Given the description of an element on the screen output the (x, y) to click on. 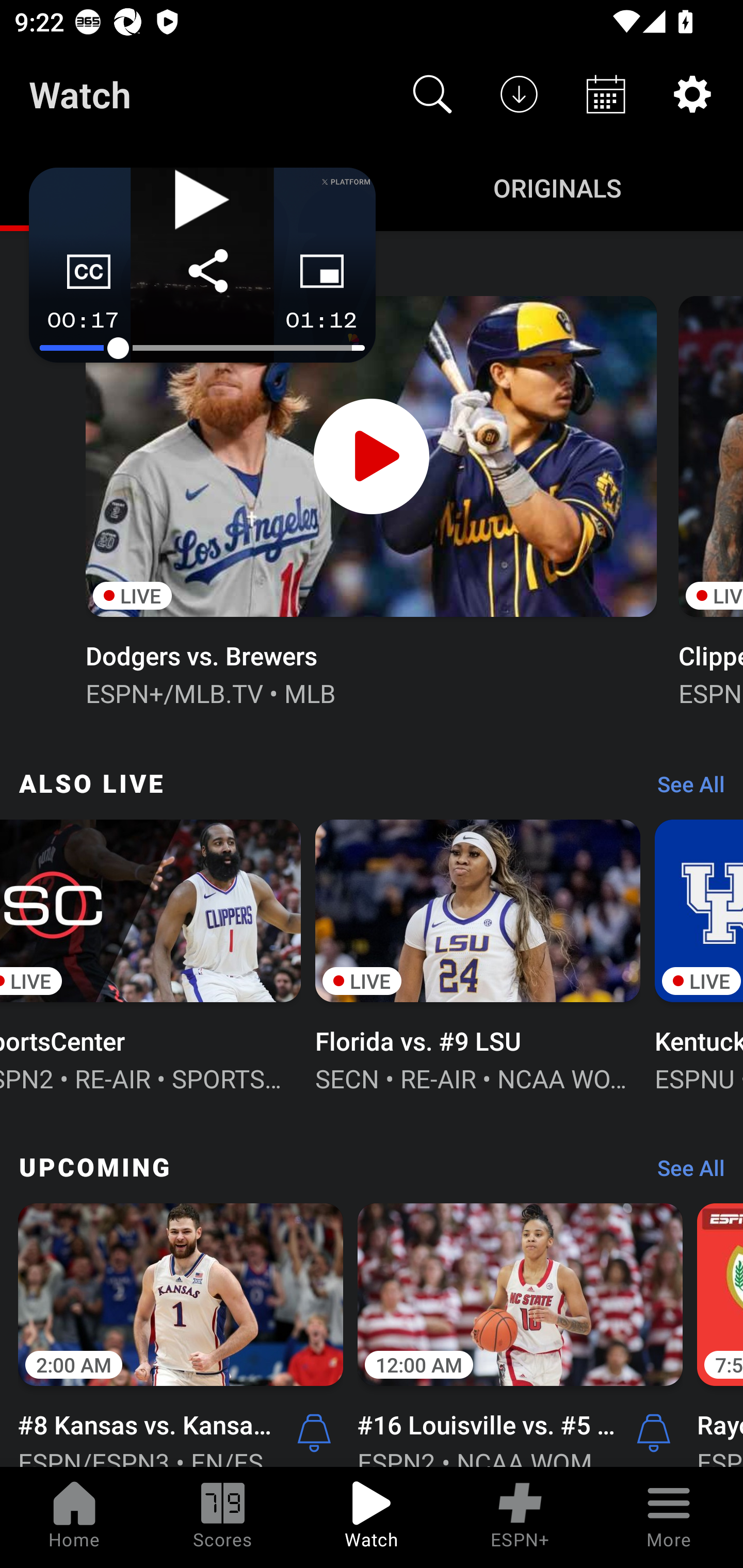
Search (432, 93)
Downloads (518, 93)
Schedule (605, 93)
Settings (692, 93)
Originals ORIGINALS (557, 187)
 LIVE Dodgers vs. Brewers ESPN+/MLB.TV • MLB (370, 499)
See All (683, 788)
LIVE SportsCenter ESPN2 • RE-AIR • SPORTSCENTER (150, 954)
See All (683, 1172)
Alerts (314, 1432)
Alerts (653, 1432)
Home (74, 1517)
Scores (222, 1517)
ESPN+ (519, 1517)
More (668, 1517)
